Given the description of an element on the screen output the (x, y) to click on. 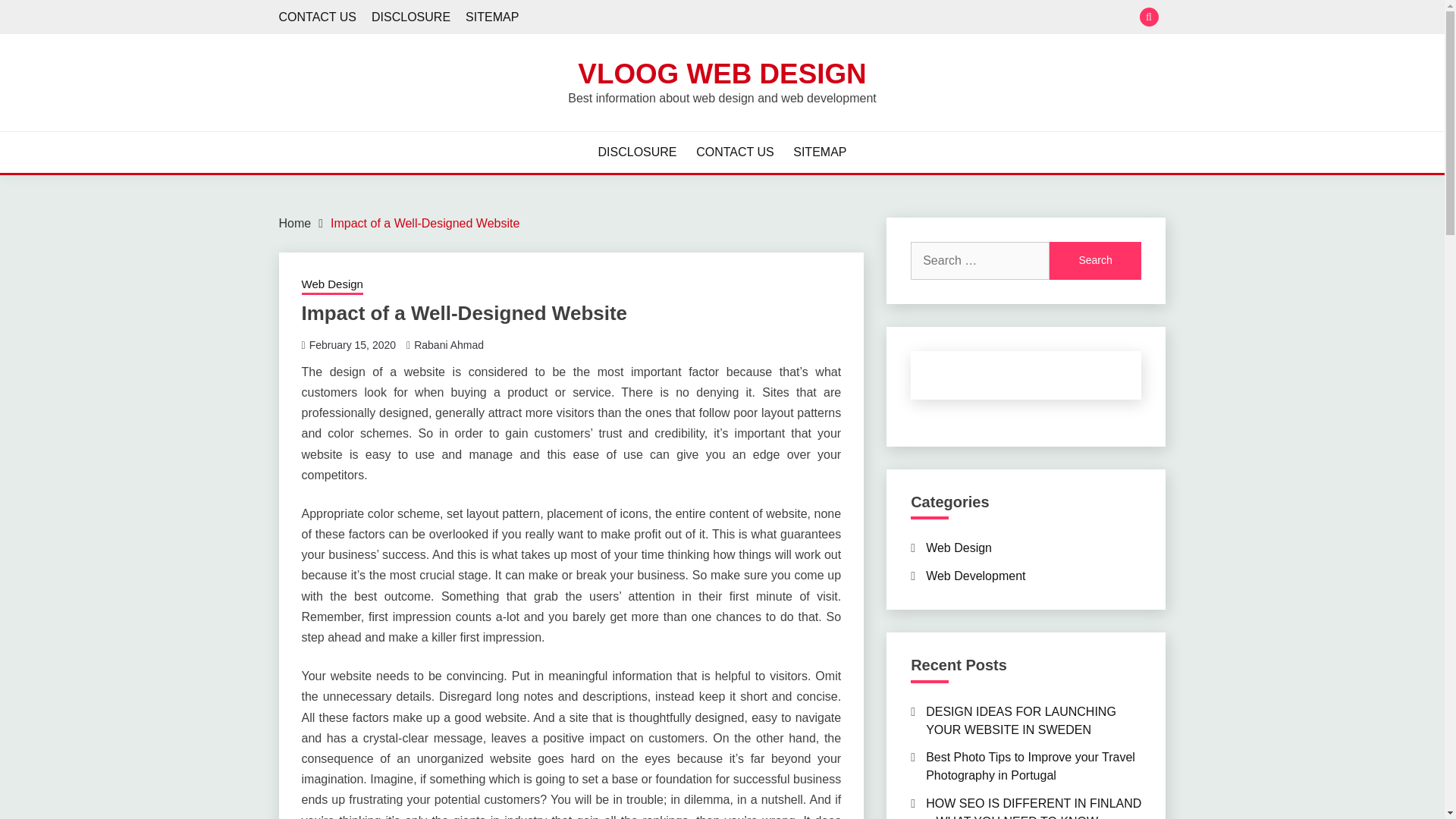
February 15, 2020 (352, 345)
Web Design (958, 547)
Search (1095, 260)
DISCLOSURE (636, 152)
Web Design (331, 285)
CONTACT US (317, 16)
VLOOG WEB DESIGN (722, 73)
DESIGN IDEAS FOR LAUNCHING YOUR WEBSITE IN SWEDEN (1021, 720)
Home (295, 223)
Web Development (975, 575)
Impact of a Well-Designed Website (424, 223)
Search (1095, 260)
DISCLOSURE (410, 16)
SITEMAP (491, 16)
CONTACT US (734, 152)
